Given the description of an element on the screen output the (x, y) to click on. 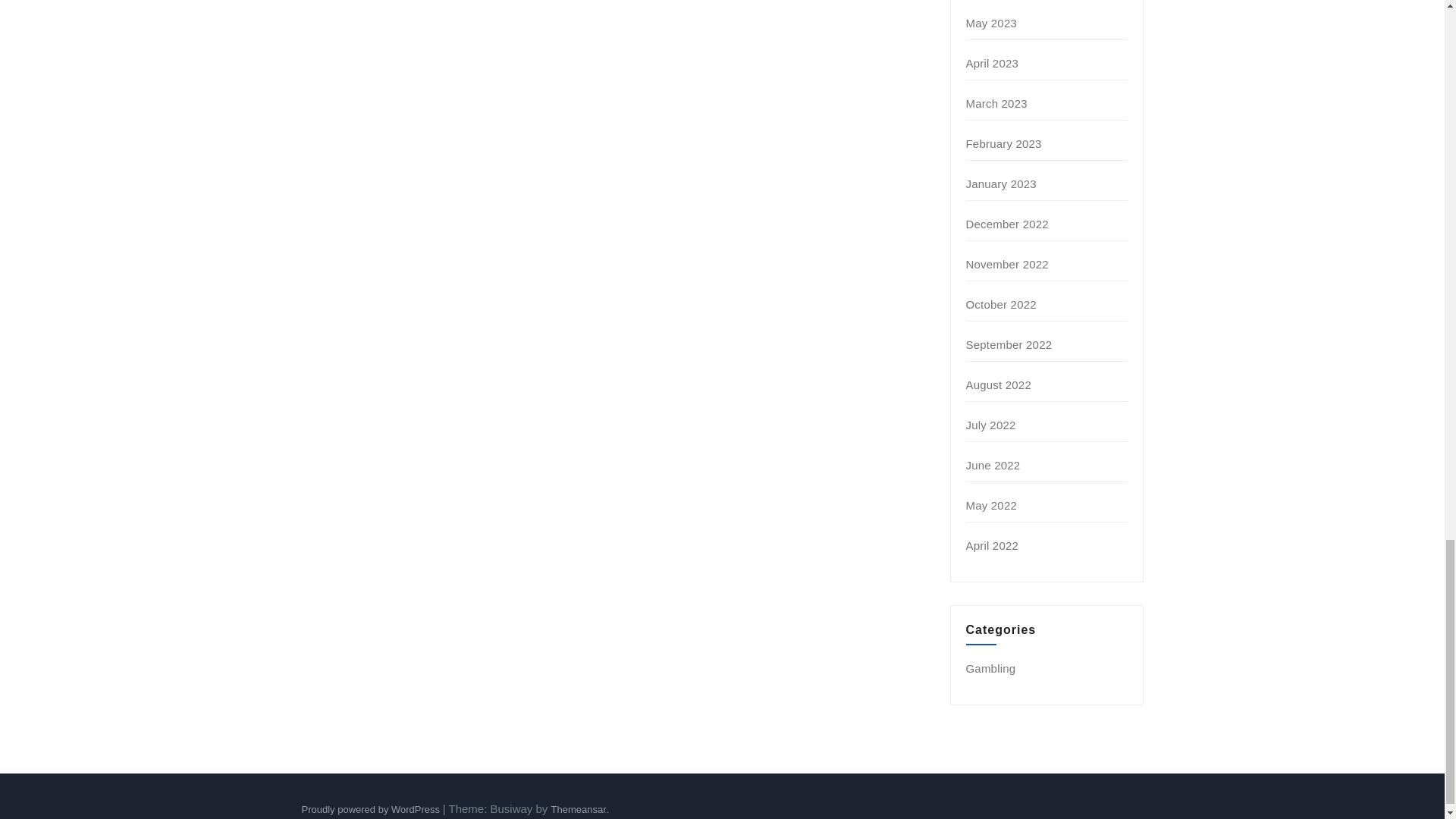
January 2023 (1001, 183)
February 2023 (1004, 143)
April 2023 (992, 62)
May 2023 (991, 22)
December 2022 (1007, 223)
March 2023 (996, 103)
